Given the description of an element on the screen output the (x, y) to click on. 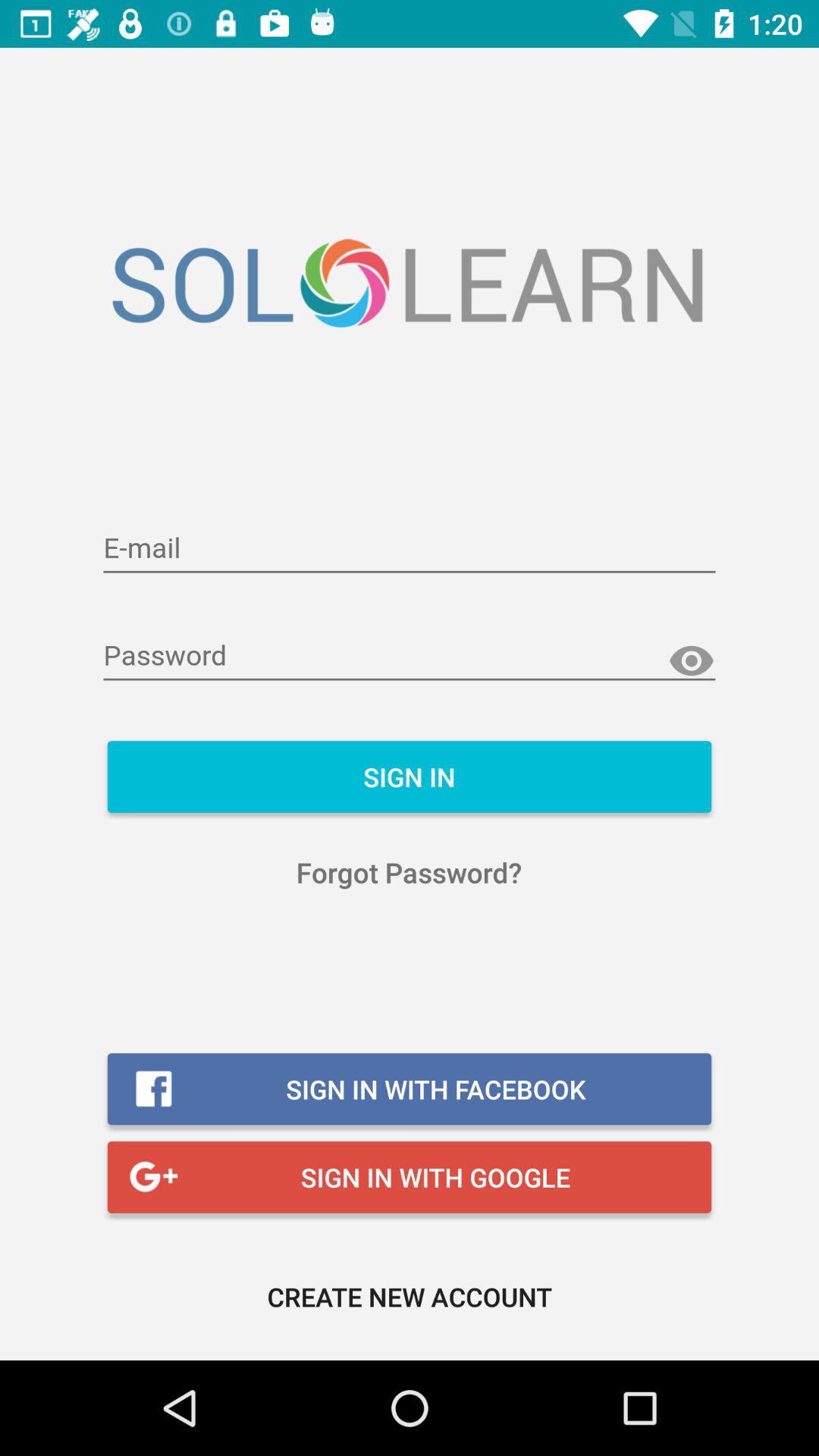
reveal password (691, 661)
